Given the description of an element on the screen output the (x, y) to click on. 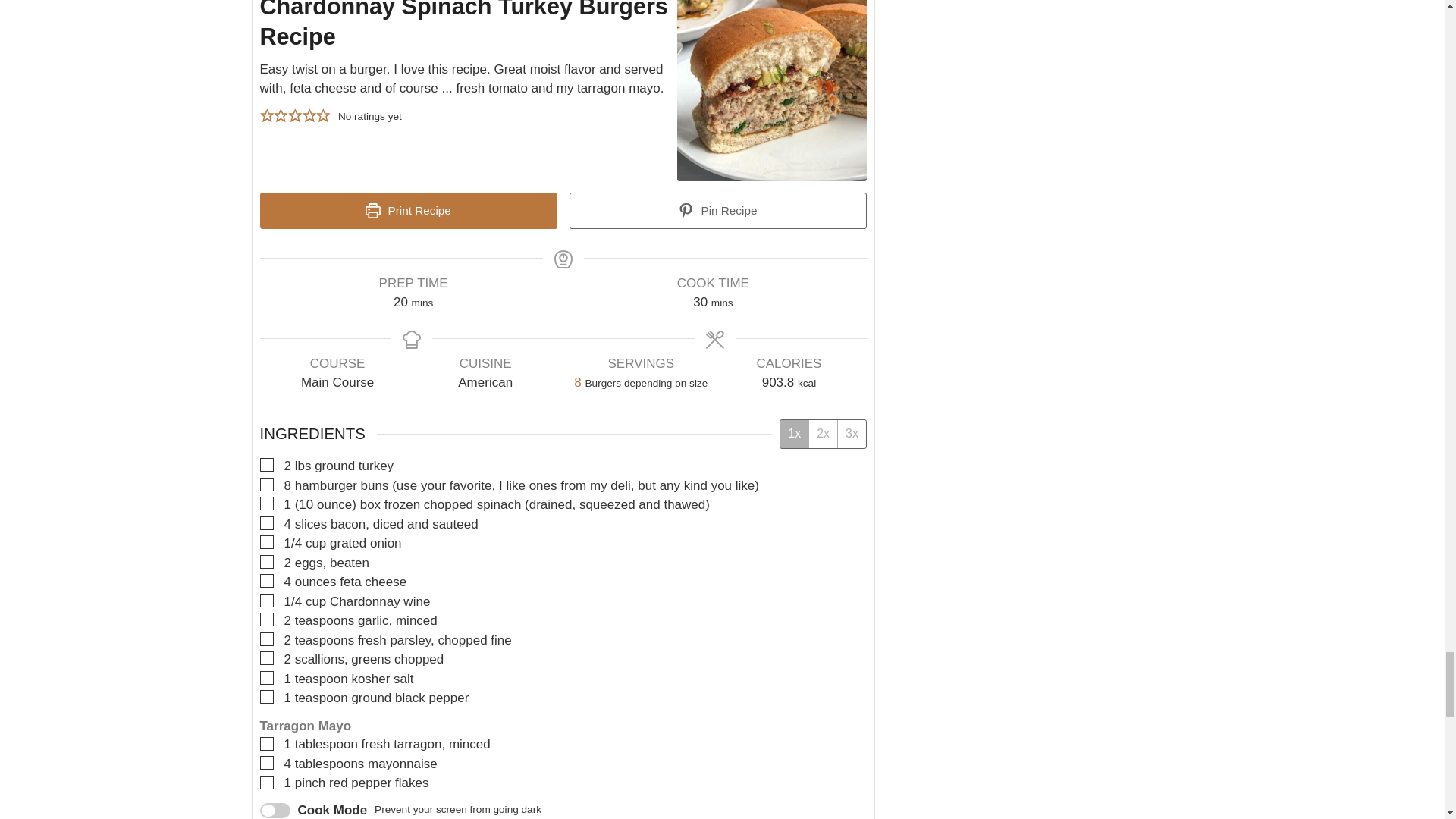
1x (794, 433)
2x (822, 433)
Print Recipe (407, 210)
3x (851, 433)
Pin Recipe (717, 210)
